Given the description of an element on the screen output the (x, y) to click on. 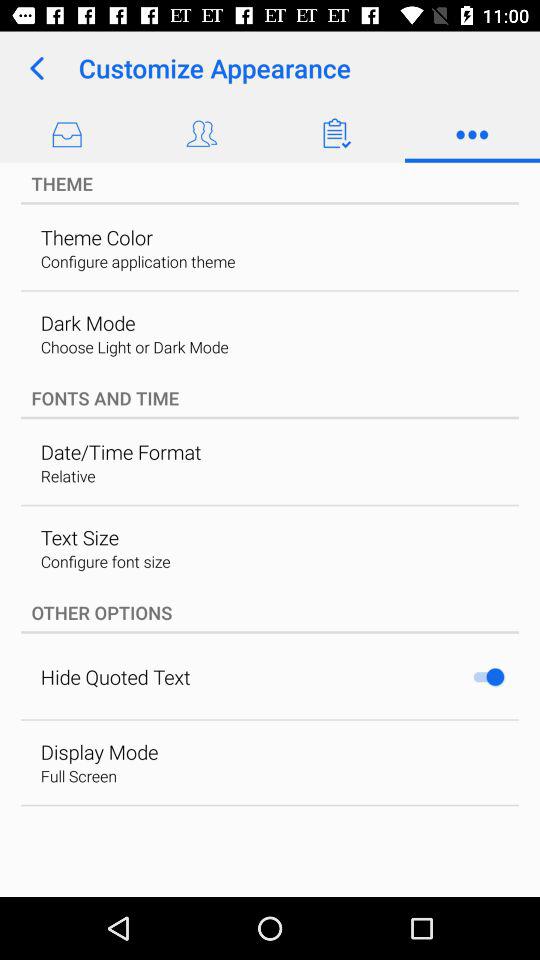
swipe to choose light or icon (134, 346)
